Given the description of an element on the screen output the (x, y) to click on. 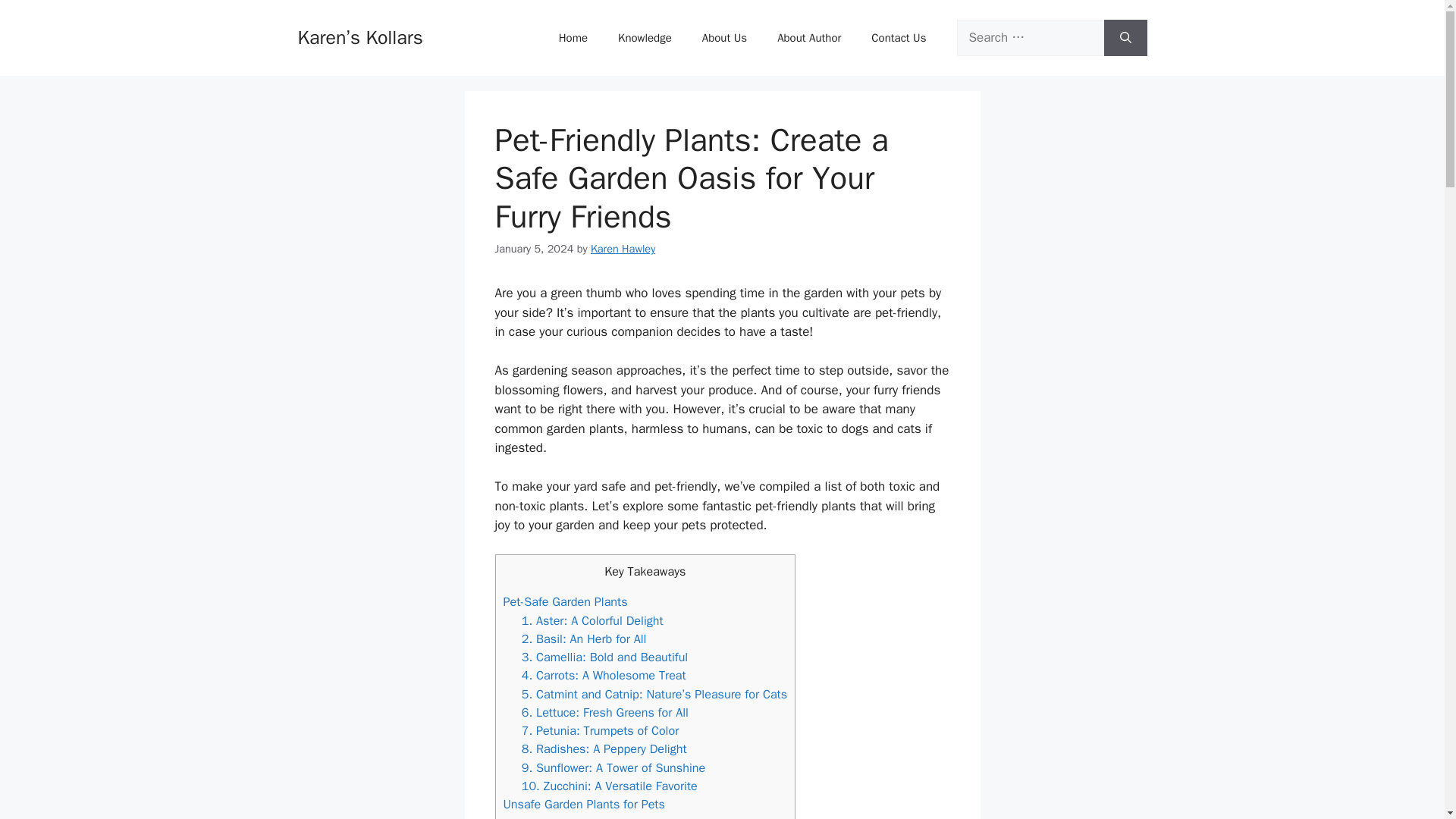
7. Petunia: Trumpets of Color (600, 730)
1. Aster: A Colorful Delight (592, 620)
2. Basil: An Herb for All (583, 638)
About Us (724, 37)
4. Carrots: A Wholesome Treat (603, 675)
10. Zucchini: A Versatile Favorite (609, 785)
3. Camellia: Bold and Beautiful (604, 657)
Karen Hawley (623, 248)
View all posts by Karen Hawley (623, 248)
Pet-Safe Garden Plants (565, 601)
Knowledge (644, 37)
Search for: (1029, 37)
Home (572, 37)
About Author (808, 37)
6. Lettuce: Fresh Greens for All (604, 712)
